Given the description of an element on the screen output the (x, y) to click on. 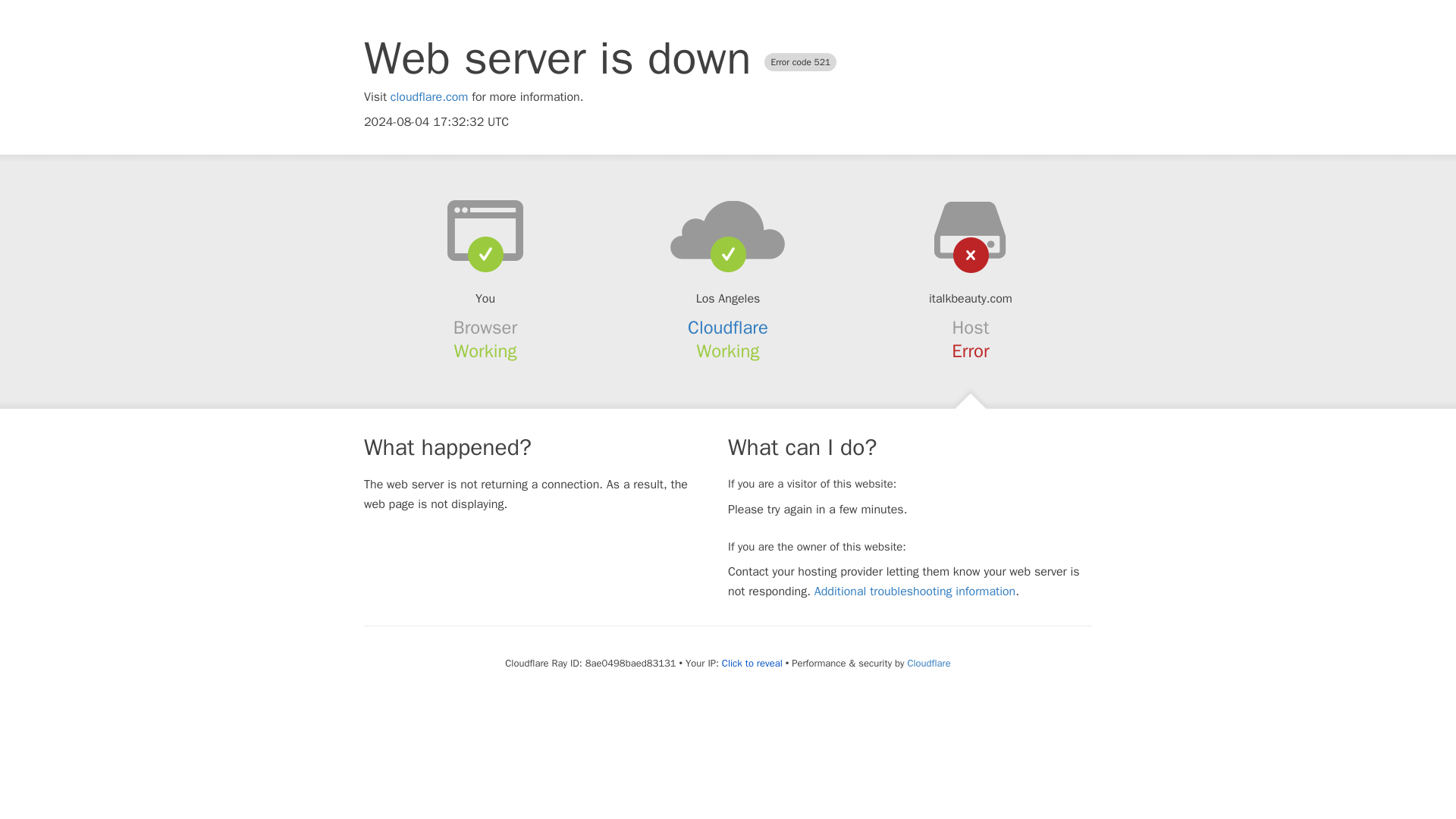
Cloudflare (928, 662)
Click to reveal (752, 663)
cloudflare.com (429, 96)
Cloudflare (727, 327)
Additional troubleshooting information (913, 590)
